Given the description of an element on the screen output the (x, y) to click on. 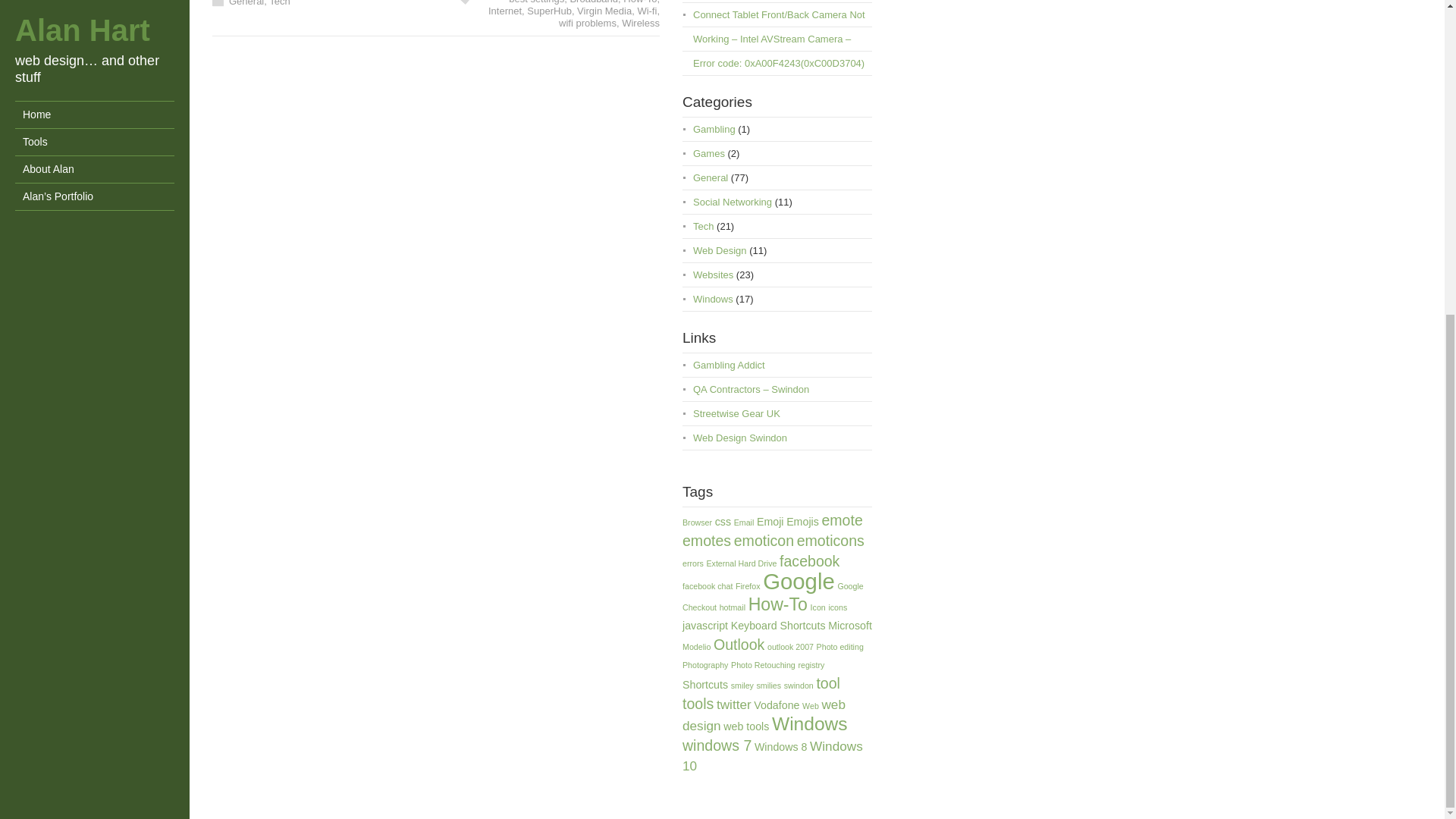
Wi-fi (646, 25)
Tech (703, 241)
Windows (713, 314)
Wireless (640, 38)
Social Networking (732, 216)
best settings (536, 13)
Web Design (719, 265)
General (245, 16)
Virgin Media (603, 25)
General (710, 193)
